Given the description of an element on the screen output the (x, y) to click on. 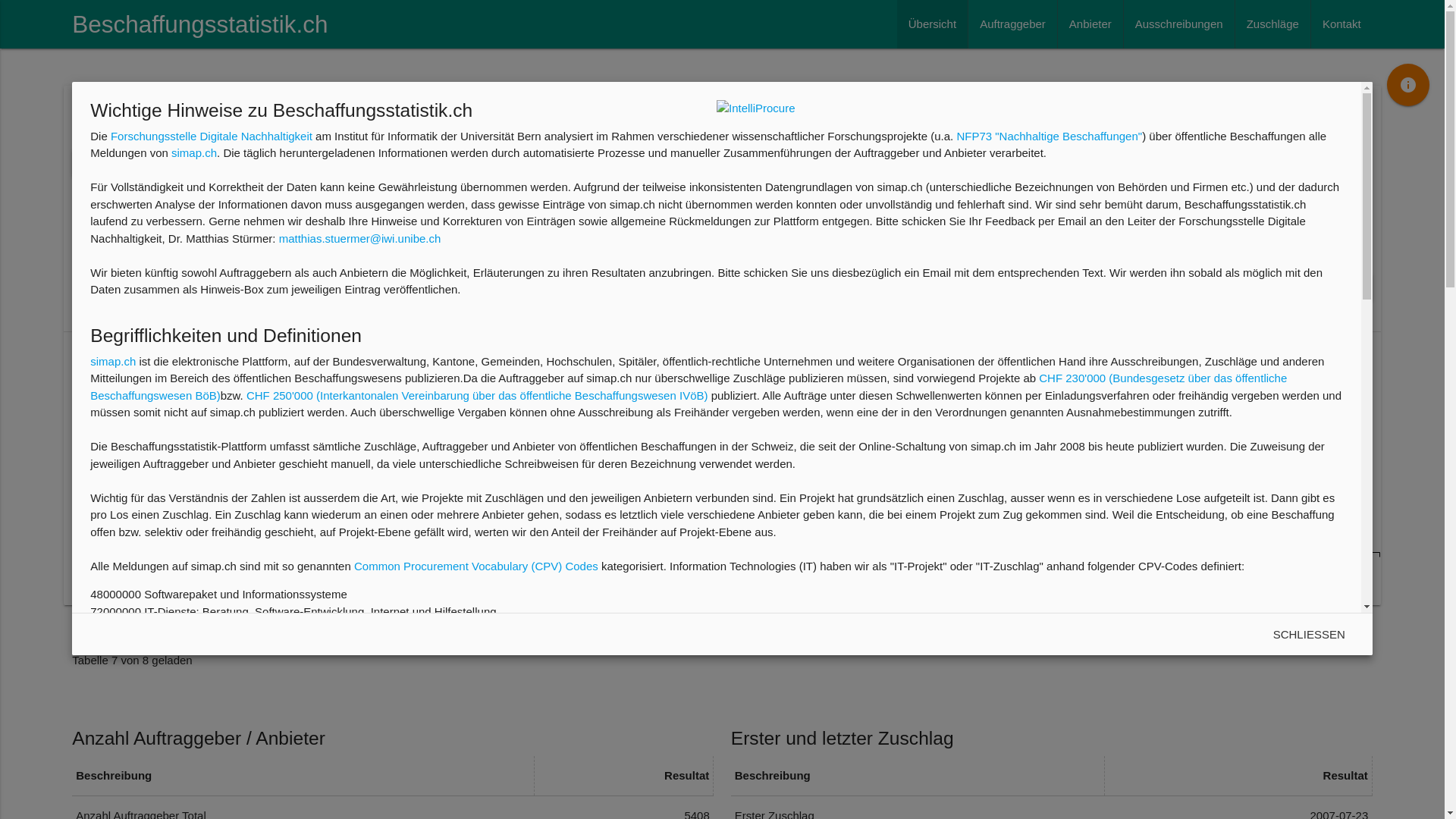
SCHLIESSEN Element type: text (1309, 634)
Common Procurement Vocabulary (CPV) Codes Element type: text (476, 565)
NFP73 "Nachhaltige Beschaffungen" Element type: text (1049, 135)
Beschaffungsstatistik.ch Element type: text (199, 24)
Forschungsstelle Digitale Nachhaltigkeit Element type: text (211, 135)
simap.ch Element type: text (112, 360)
Kontakt Element type: text (1341, 24)
info Element type: text (1407, 84)
Anbieter Element type: text (1090, 24)
matthias.stuermer@iwi.unibe.ch Element type: text (360, 238)
Auftraggeber Element type: text (1012, 24)
refresh Element type: text (1336, 287)
Ausschreibungen Element type: text (1178, 24)
simap.ch Element type: text (193, 152)
